Given the description of an element on the screen output the (x, y) to click on. 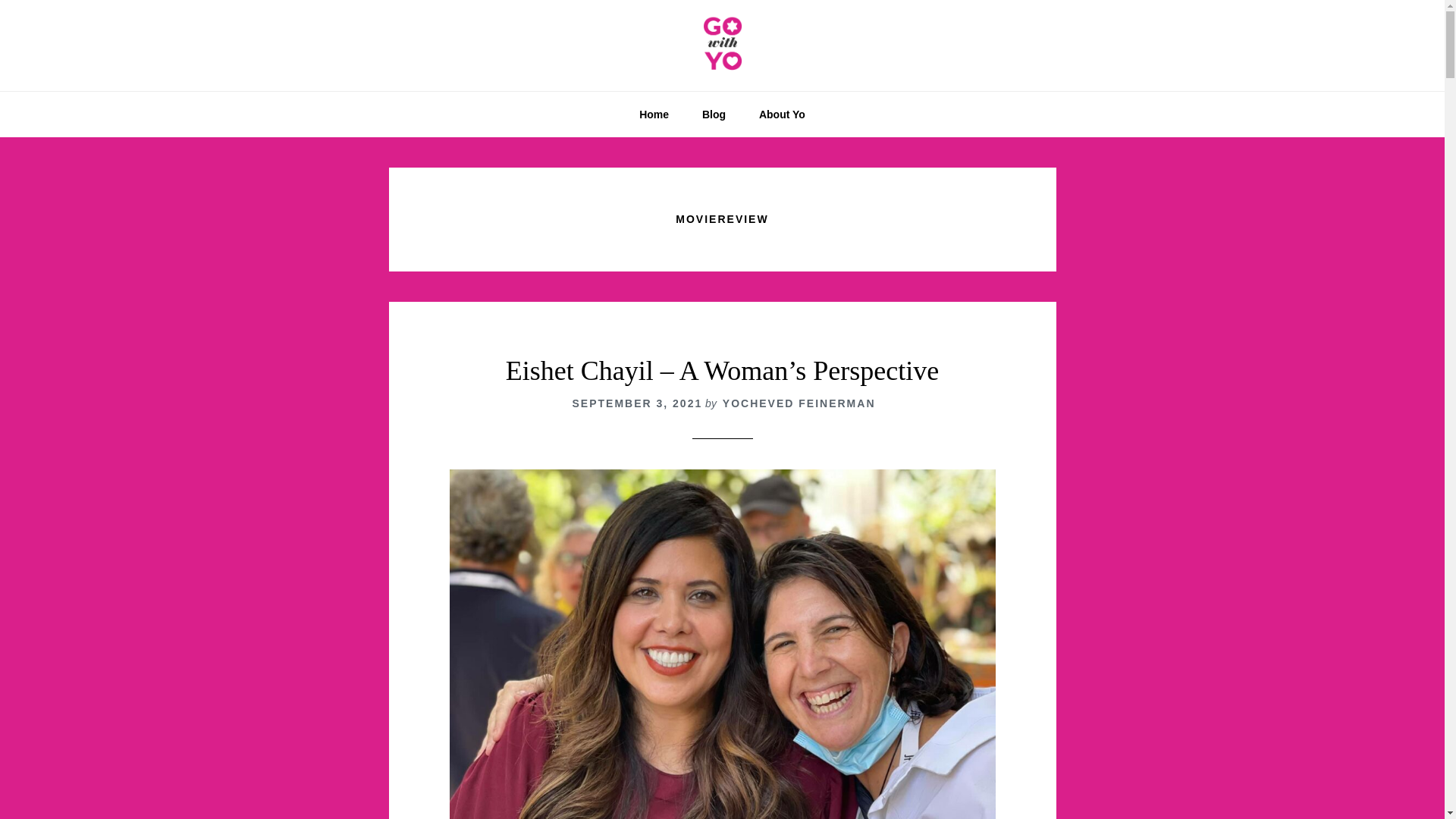
About Yo (782, 114)
YOCHEVED FEINERMAN (799, 403)
Home (654, 114)
Yocheved Feinerman (721, 45)
Blog (714, 114)
